Given the description of an element on the screen output the (x, y) to click on. 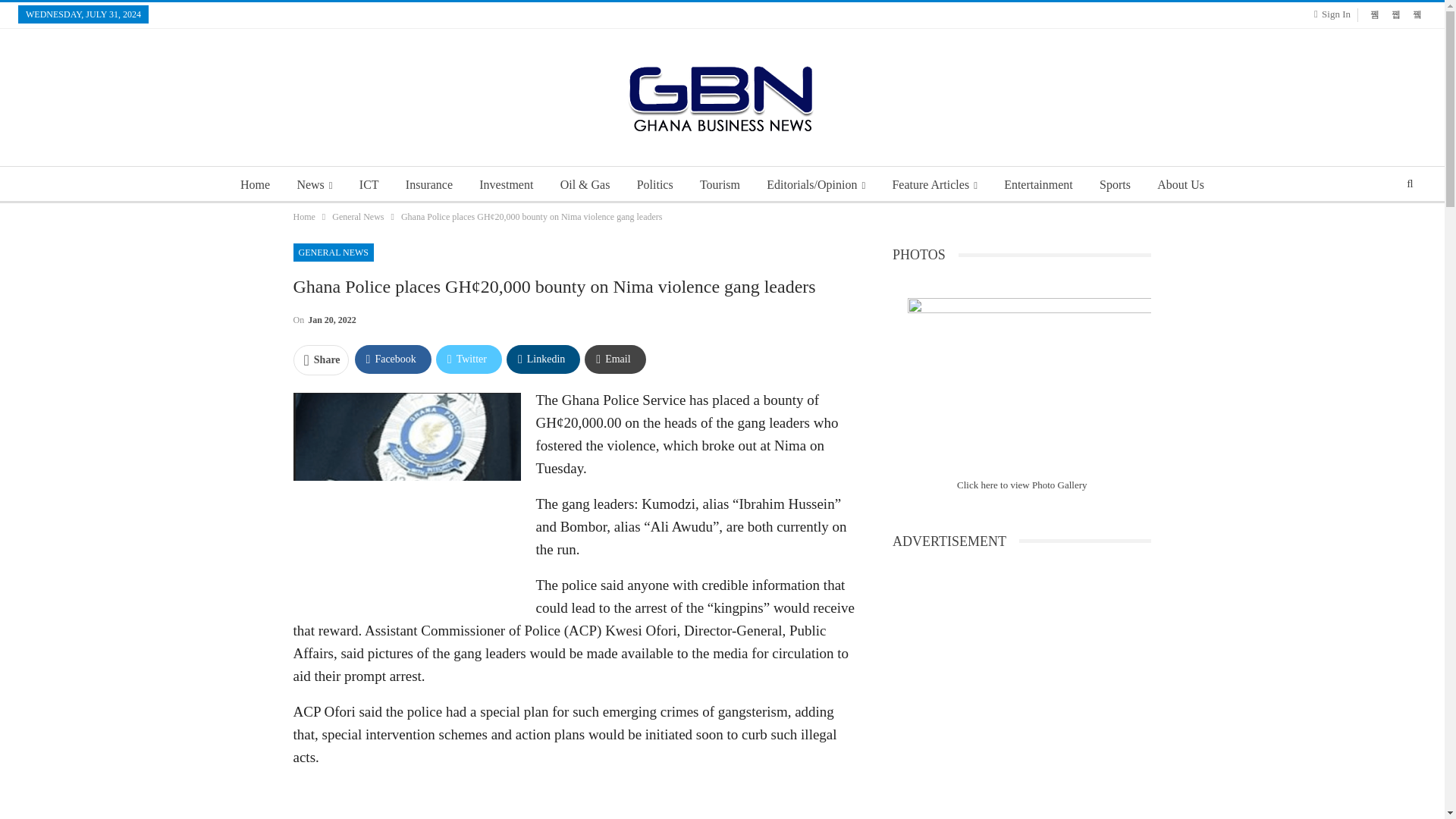
Insurance (428, 185)
GENERAL NEWS (333, 252)
Investment (505, 185)
Linkedin (542, 358)
Sign In (1335, 13)
Click here to view Photo Gallery (1021, 484)
Email (615, 358)
Facebook (392, 358)
Feature Articles (934, 185)
News (313, 185)
Entertainment (1037, 185)
Twitter (468, 358)
Home (255, 185)
General News (357, 216)
Tourism (719, 185)
